Given the description of an element on the screen output the (x, y) to click on. 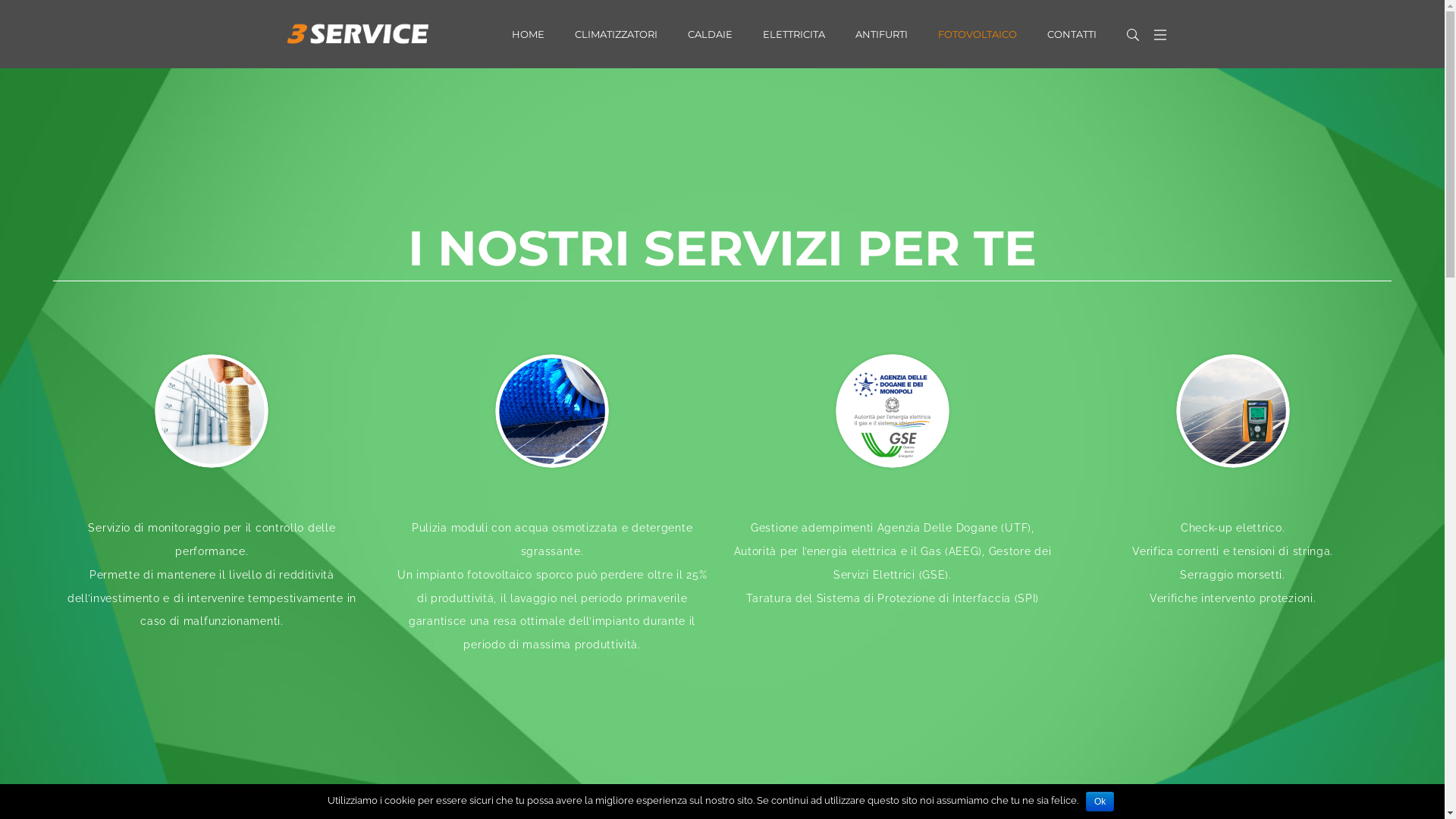
Privacy Policy Element type: text (863, 790)
HOME Element type: text (527, 34)
CALDAIE Element type: text (709, 34)
ANTIFURTI Element type: text (881, 34)
CLIMATIZZATORI Element type: text (615, 34)
ELETTRICITA Element type: text (793, 34)
Ok Element type: text (1099, 801)
FOTOVOLTAICO Element type: text (976, 34)
CONTATTI Element type: text (1070, 34)
